Given the description of an element on the screen output the (x, y) to click on. 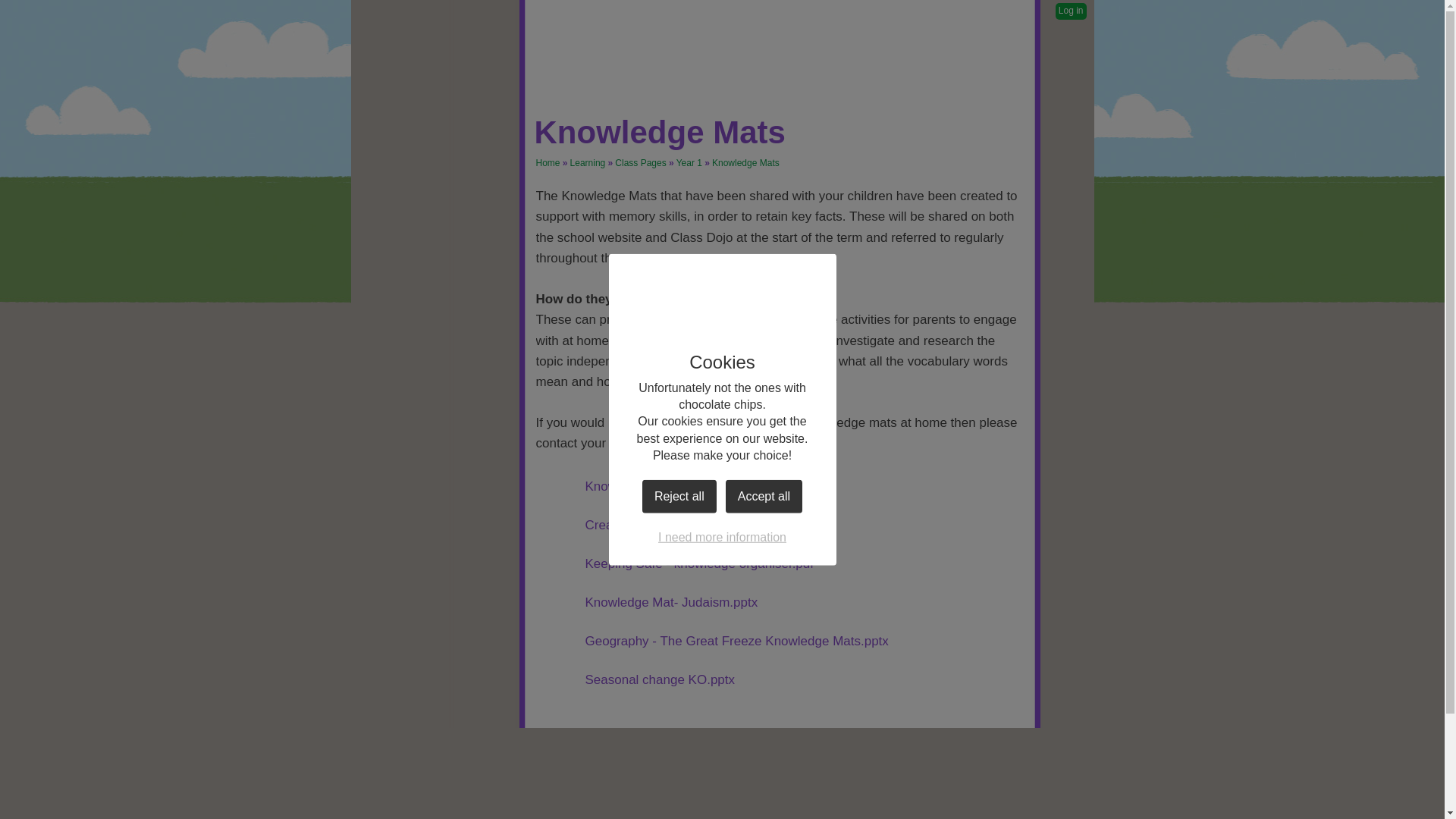
Home (547, 163)
Learning (587, 163)
Knowledge Organiser - Green Fingers.pdf (679, 486)
Year 1 (689, 163)
Keeping Safe - knowledge organiser.pdf (673, 564)
Seasonal change KO.pptx (635, 679)
Creating Media - Digital Writing.pdf (659, 524)
Our School (431, 166)
Home Page (784, 41)
Home Page (784, 41)
